Given the description of an element on the screen output the (x, y) to click on. 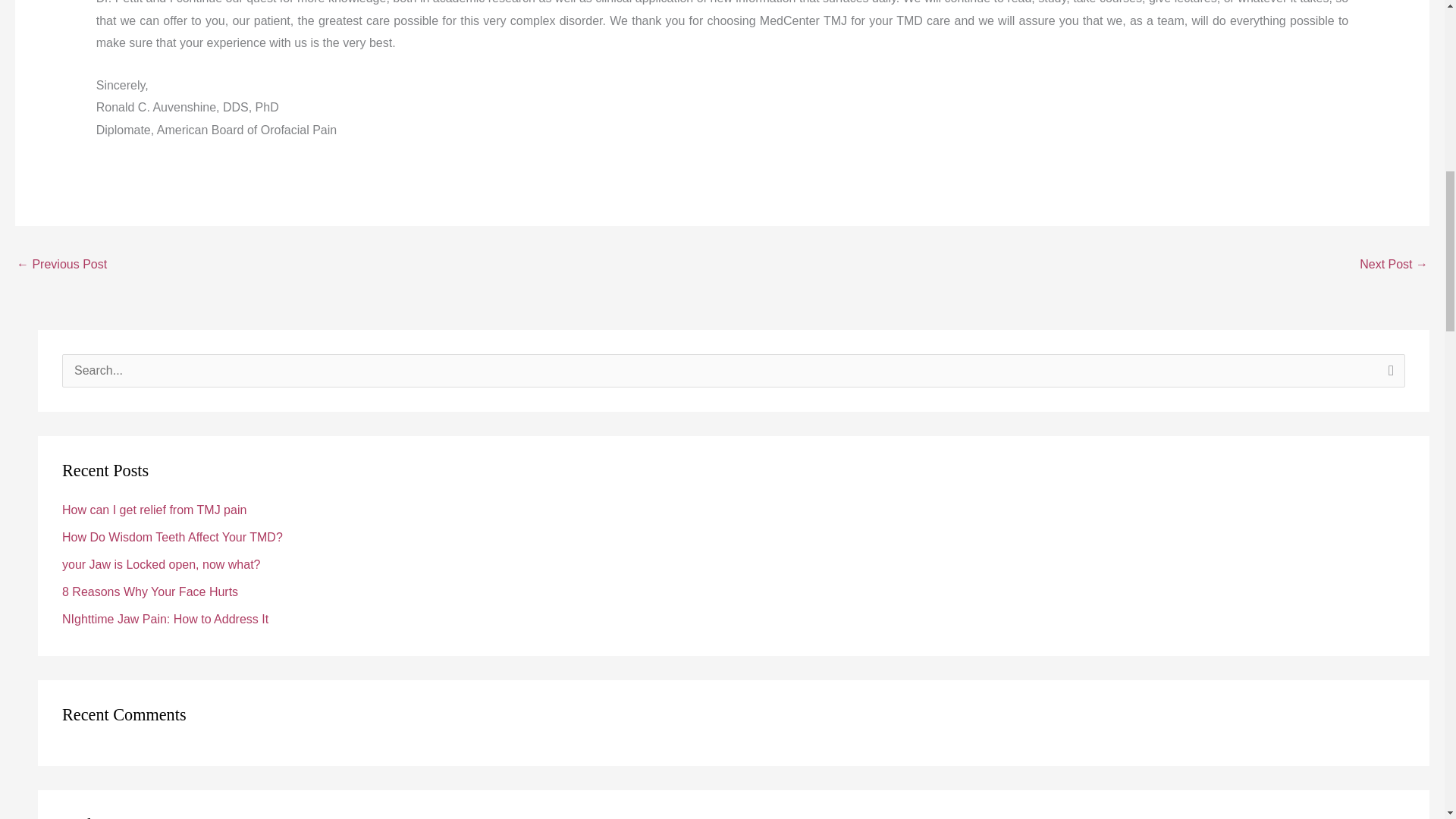
your Jaw is Locked open, now what? (161, 563)
How can I get relief from TMJ pain (154, 509)
How Do Wisdom Teeth Affect Your TMD? (172, 536)
NIghttime Jaw Pain: How to Address It (164, 618)
May 2017 Newsletter (61, 265)
8 Reasons Why Your Face Hurts (150, 591)
